Given the description of an element on the screen output the (x, y) to click on. 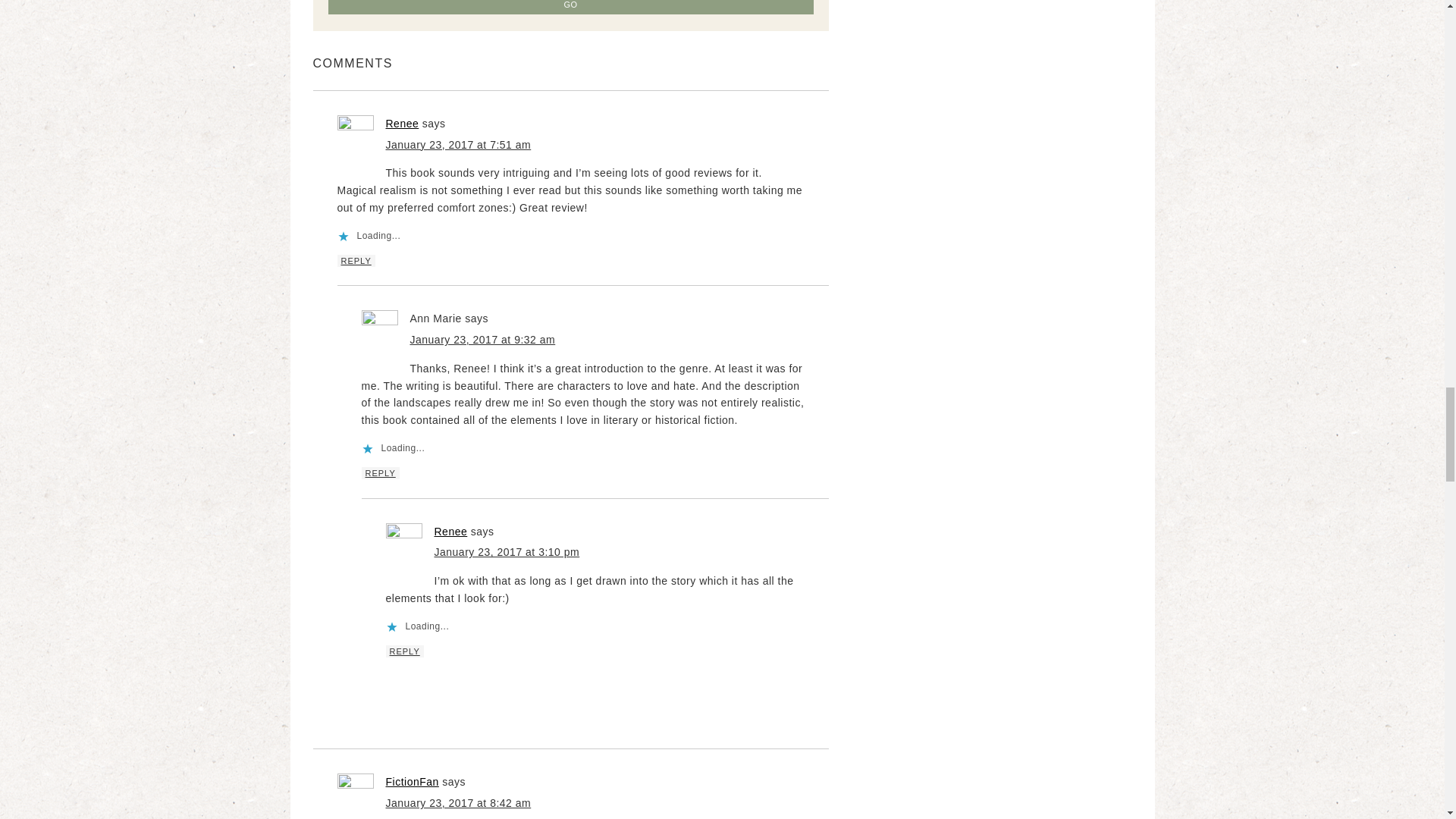
Go (569, 7)
